Given the description of an element on the screen output the (x, y) to click on. 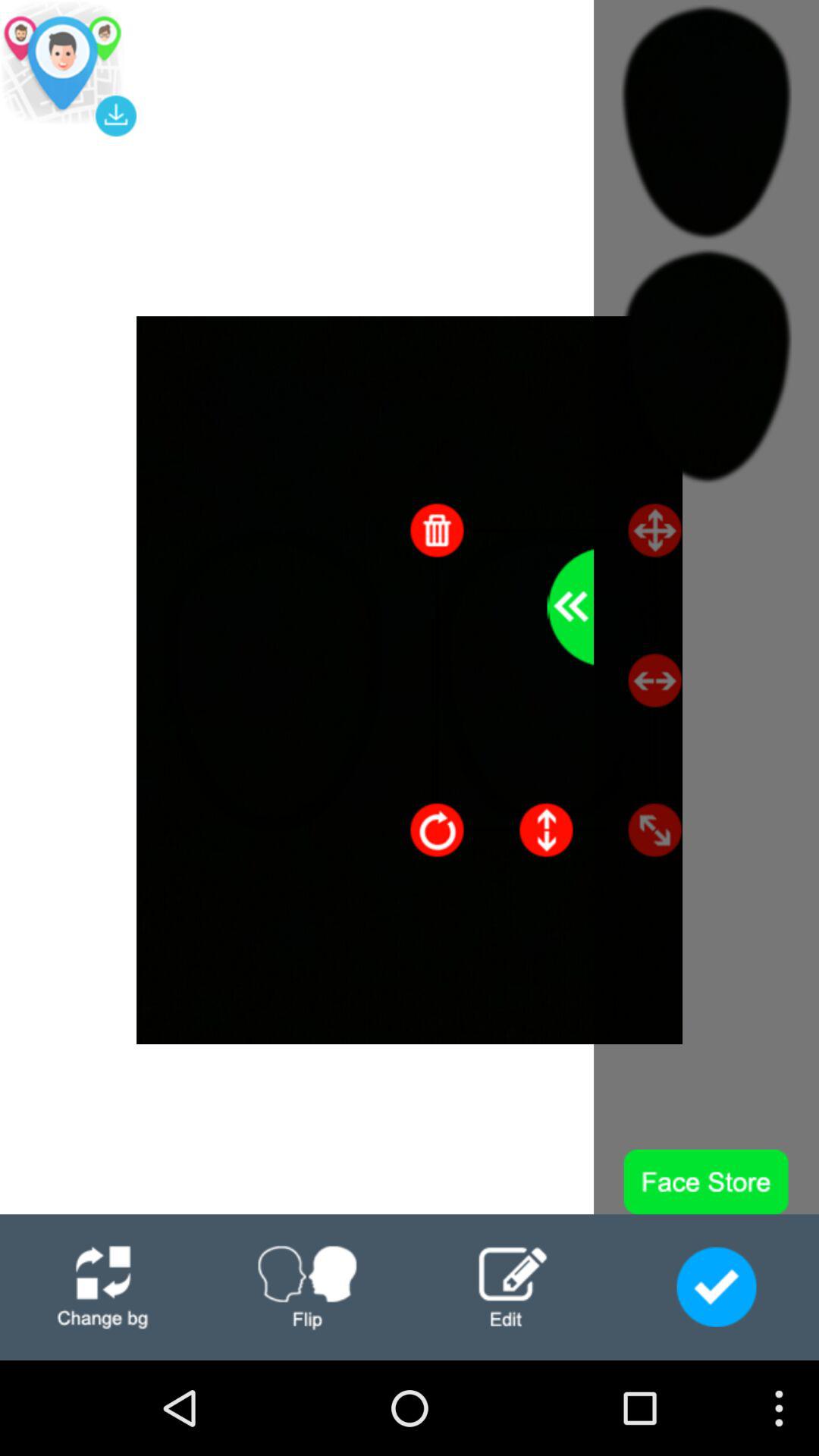
location button (68, 68)
